Given the description of an element on the screen output the (x, y) to click on. 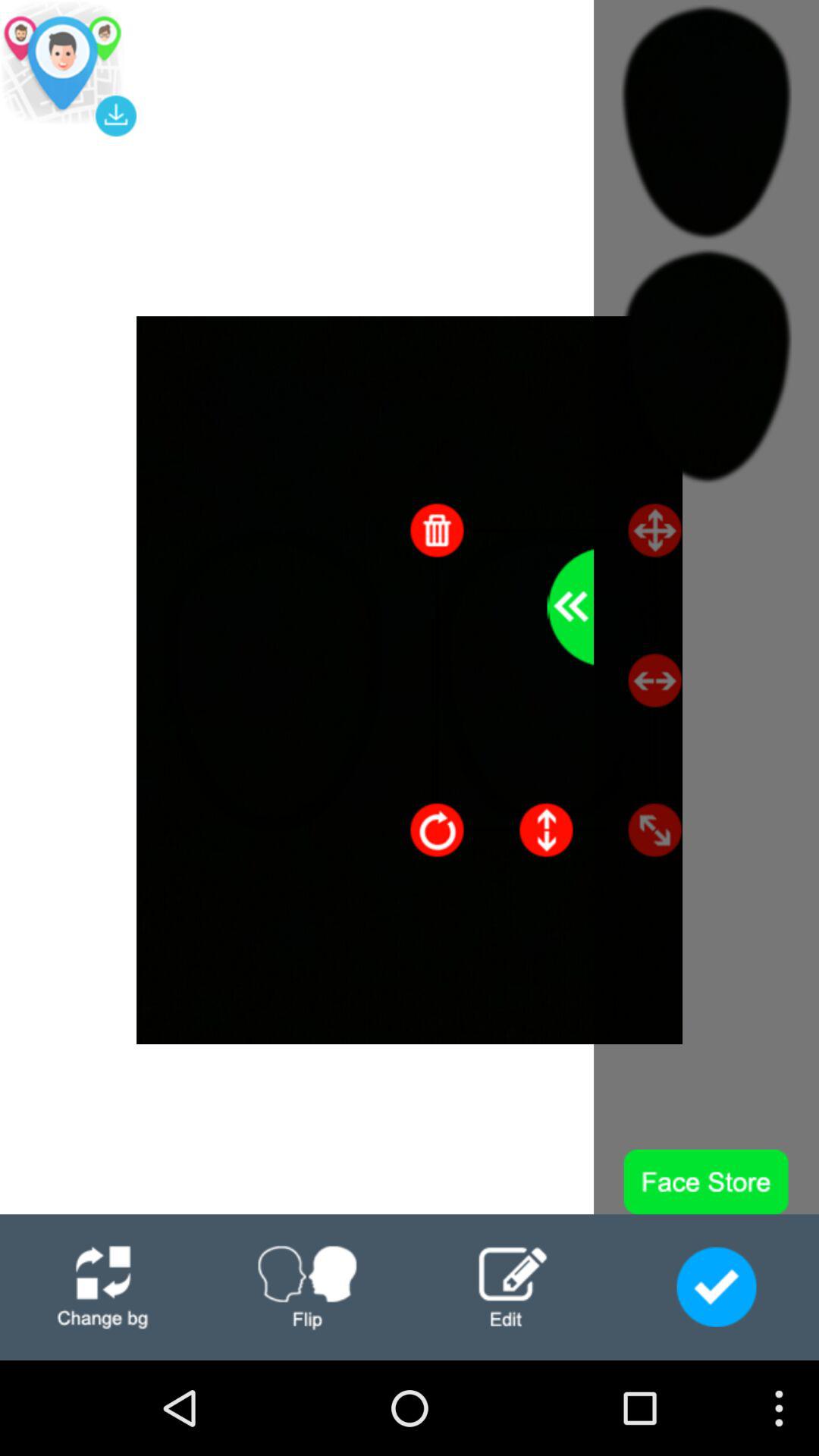
location button (68, 68)
